Given the description of an element on the screen output the (x, y) to click on. 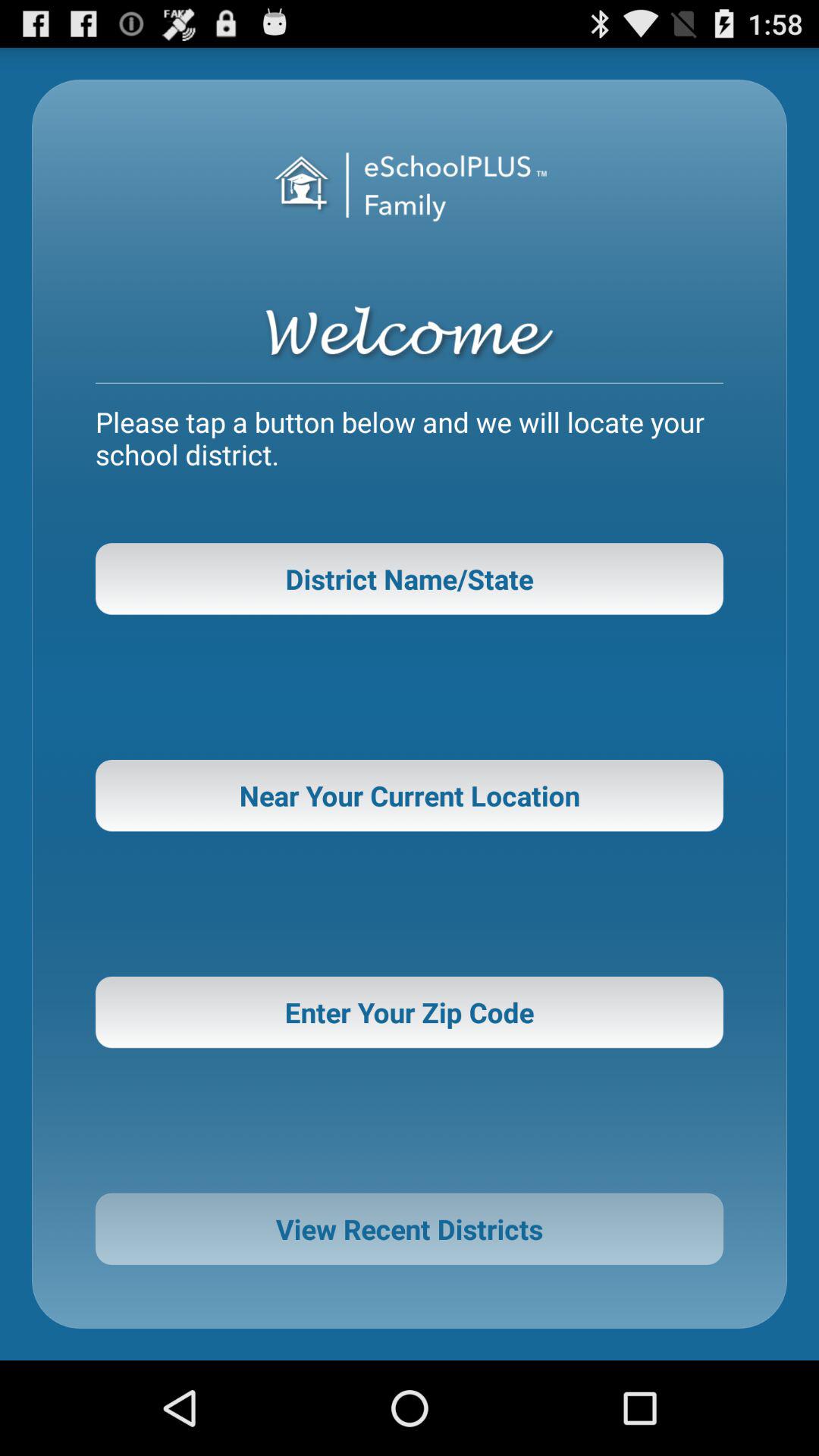
launch the button above the enter your zip button (409, 795)
